Given the description of an element on the screen output the (x, y) to click on. 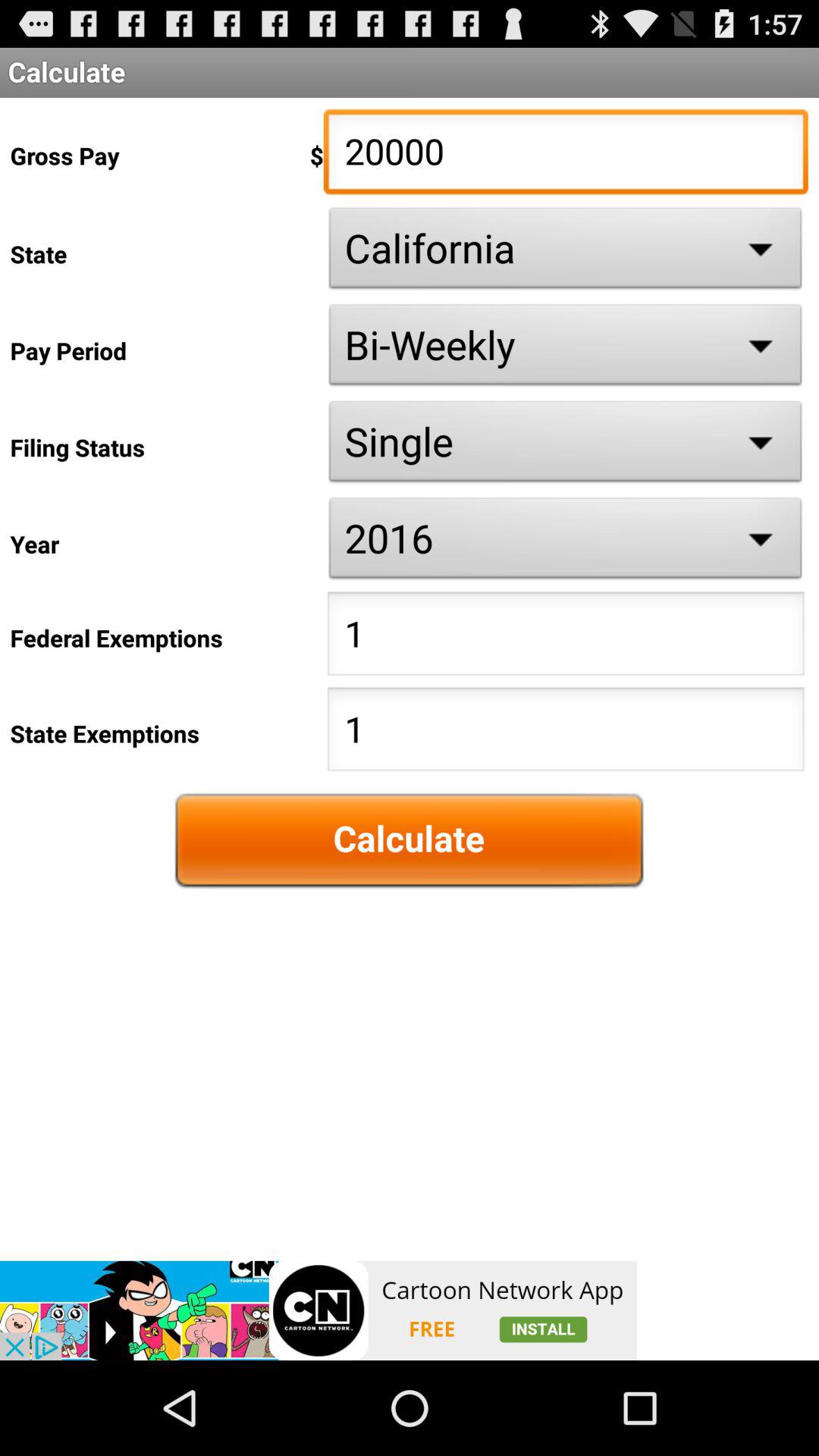
advertisement (318, 1310)
